Given the description of an element on the screen output the (x, y) to click on. 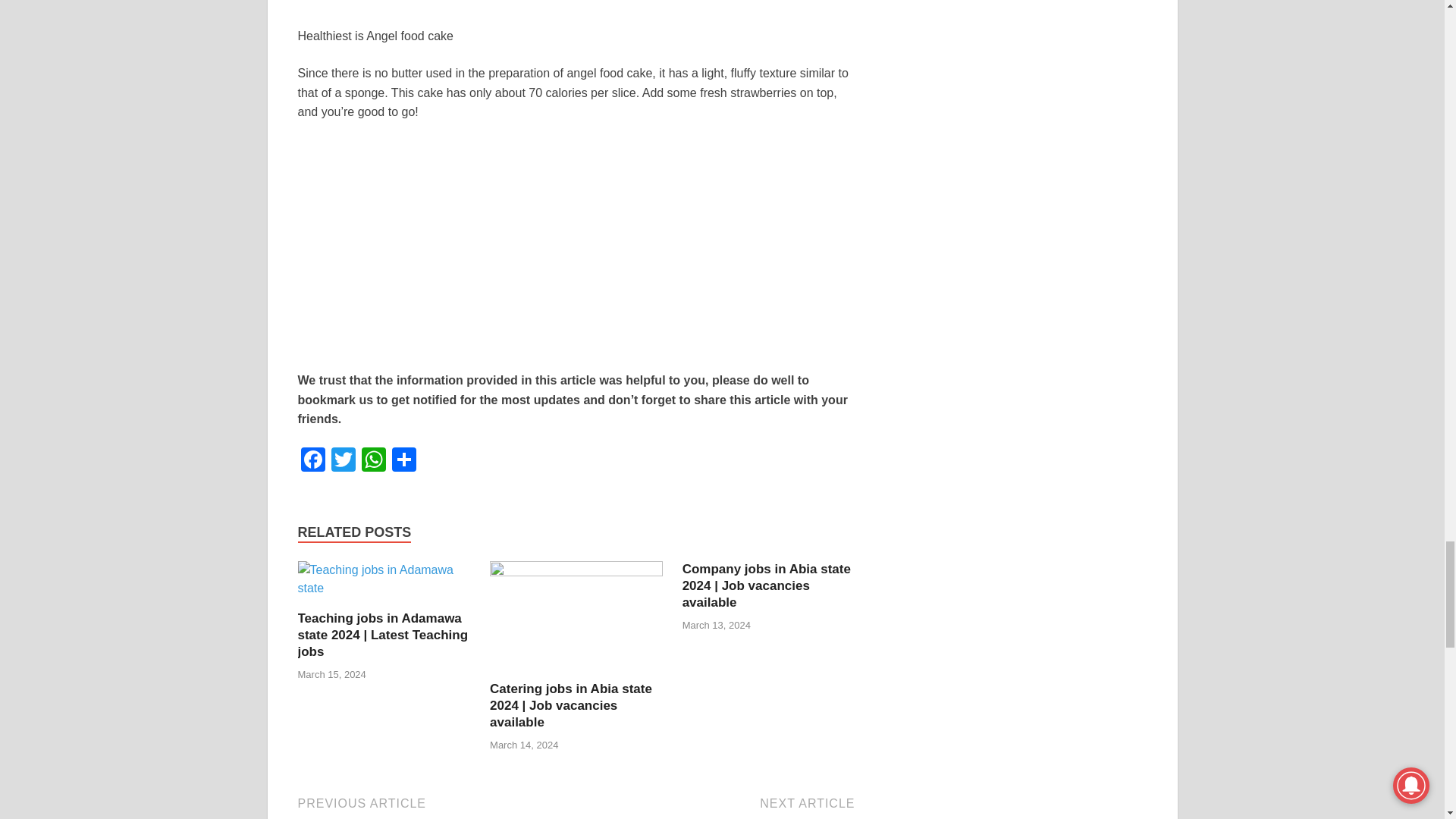
Facebook (312, 461)
Twitter (342, 461)
